Given the description of an element on the screen output the (x, y) to click on. 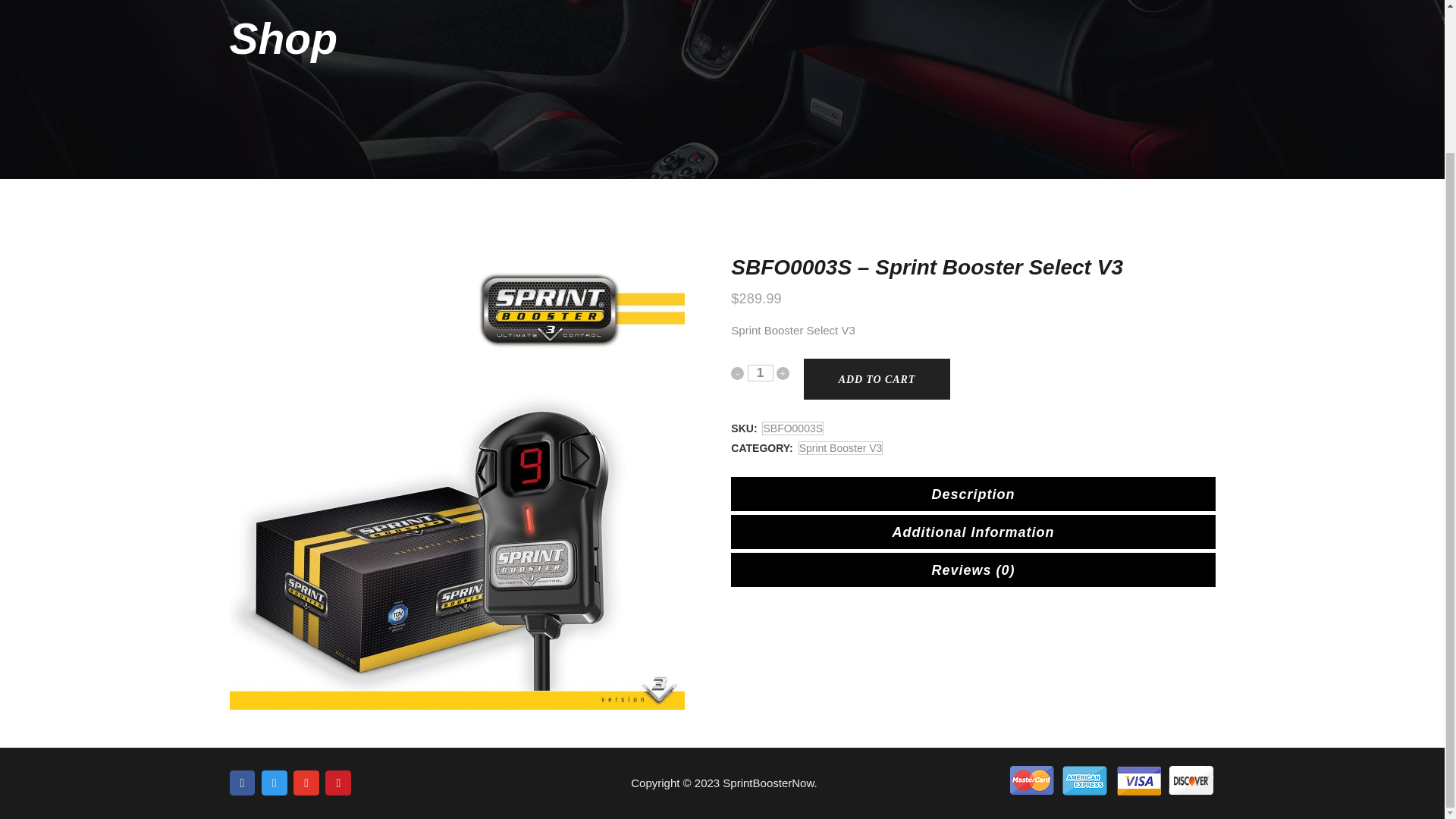
ADD TO CART (876, 378)
1 (760, 372)
- (737, 373)
Qty (760, 372)
Sprint Booster V3 (840, 448)
